Given the description of an element on the screen output the (x, y) to click on. 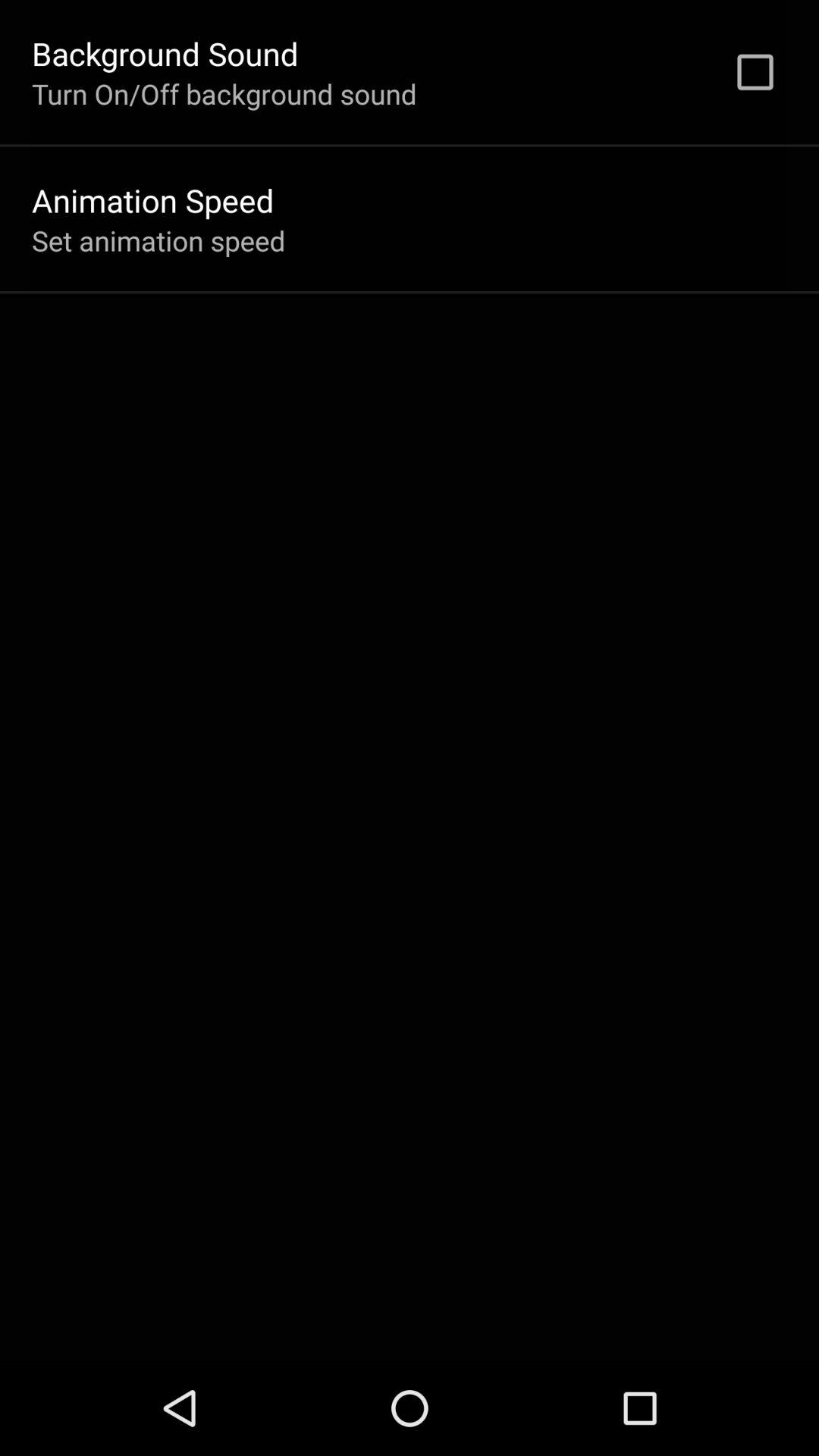
click item to the right of turn on off icon (755, 72)
